Given the description of an element on the screen output the (x, y) to click on. 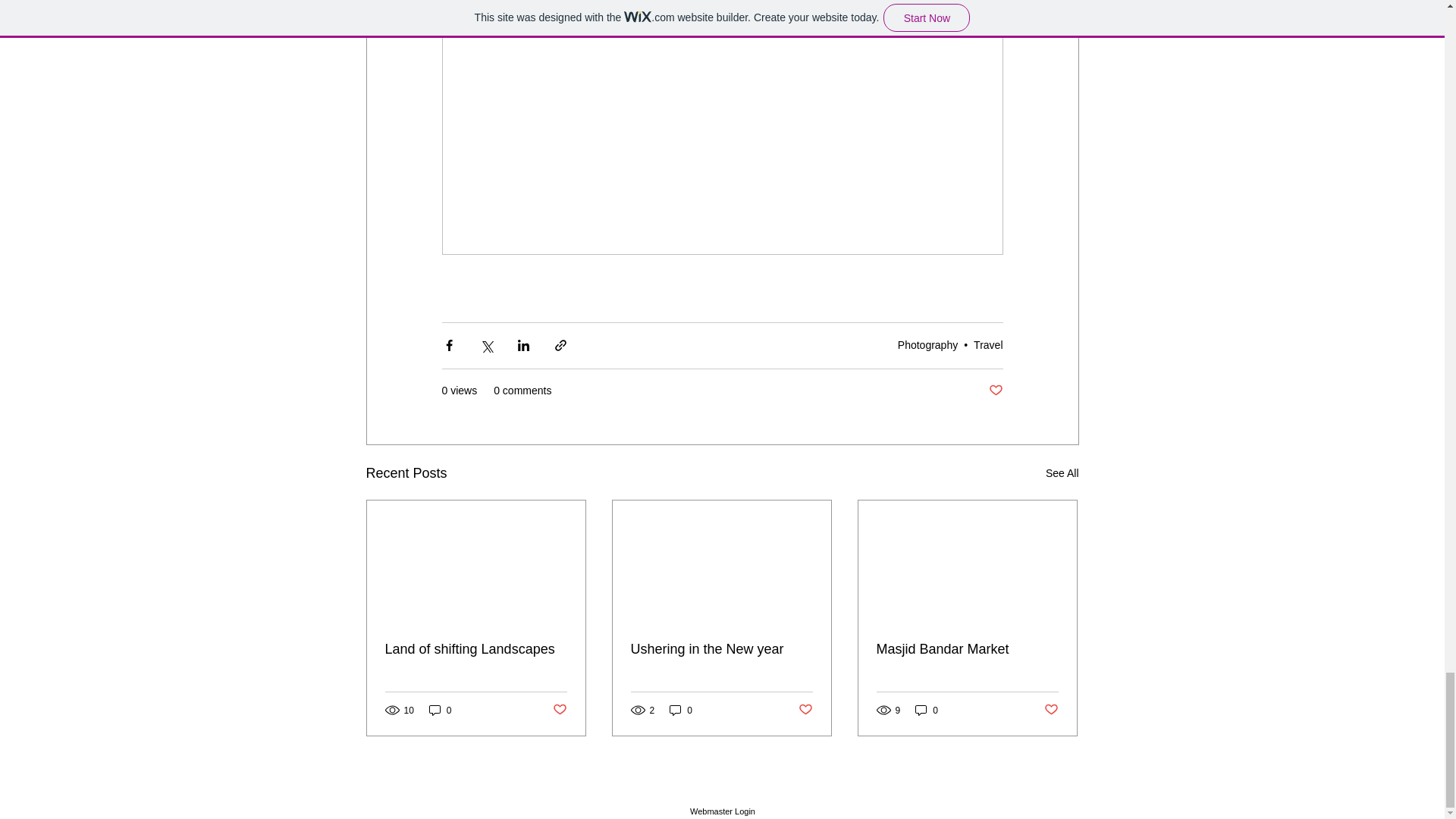
0 (926, 709)
See All (1061, 473)
Masjid Bandar Market (967, 649)
Land of shifting Landscapes (476, 649)
Ushering in the New year (721, 649)
Photography (928, 345)
0 (440, 709)
Post not marked as liked (804, 709)
Post not marked as liked (995, 390)
Post not marked as liked (558, 709)
